Given the description of an element on the screen output the (x, y) to click on. 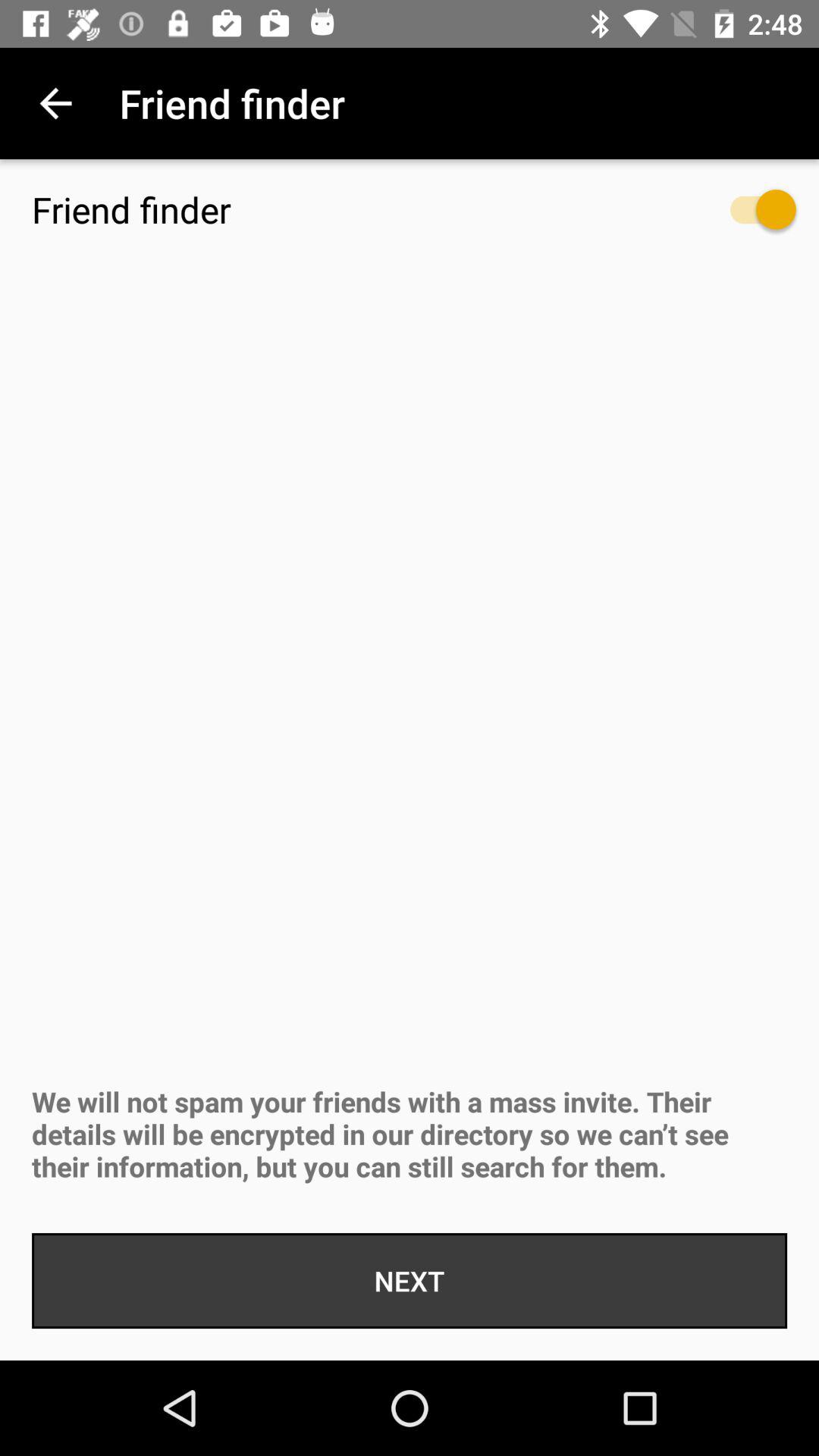
jump to the next icon (409, 1280)
